Given the description of an element on the screen output the (x, y) to click on. 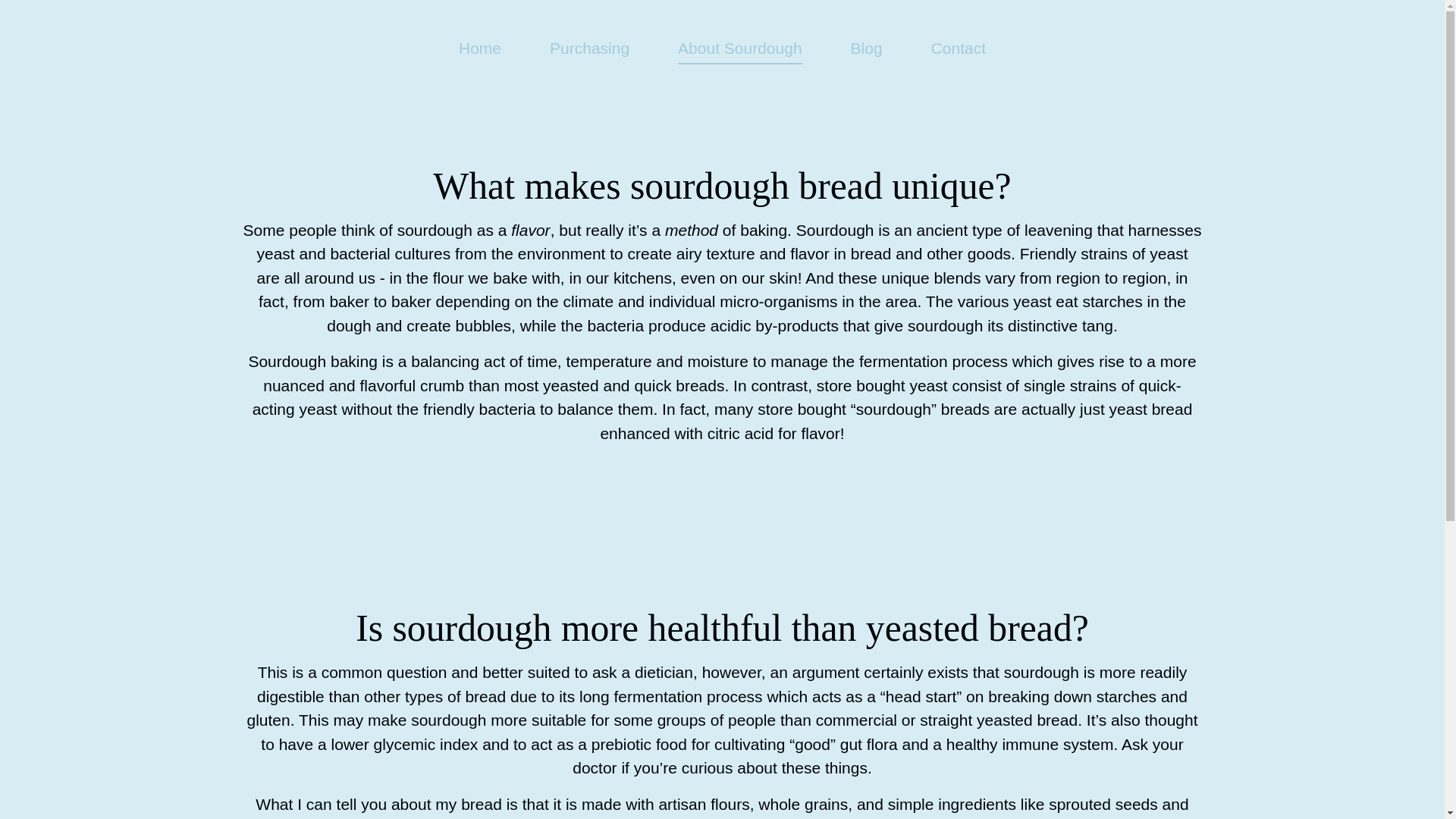
Contact (958, 47)
About Sourdough (740, 51)
Blog (866, 47)
Home (479, 47)
Purchasing (589, 47)
